Given the description of an element on the screen output the (x, y) to click on. 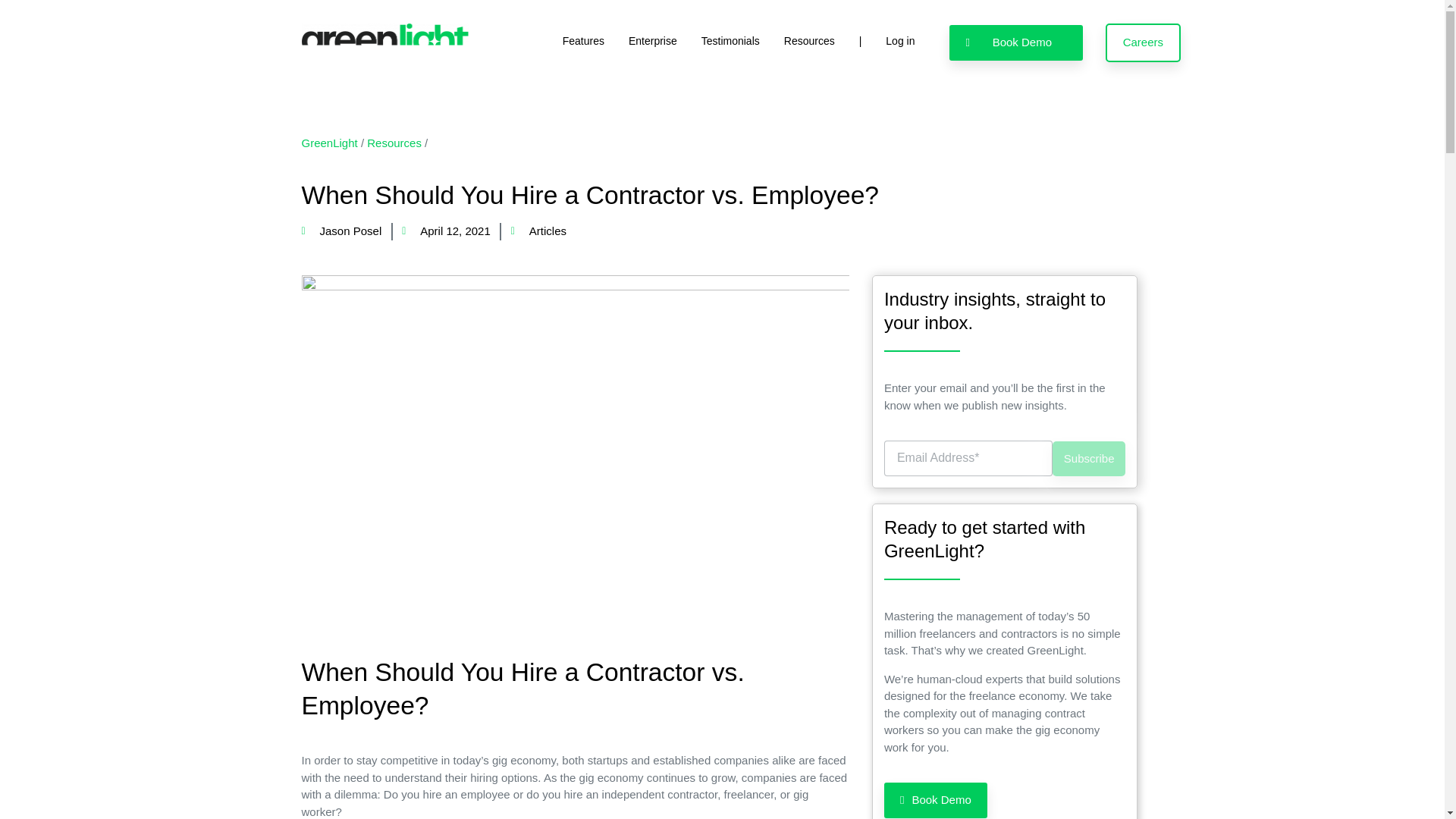
Enterprise (651, 40)
Logo G-B (384, 41)
Testimonials (729, 40)
Jason Posel (341, 231)
Resources (809, 40)
GreenLight (329, 142)
Resources (394, 142)
Features (582, 40)
Book Demo (1015, 42)
Careers (1142, 42)
